Given the description of an element on the screen output the (x, y) to click on. 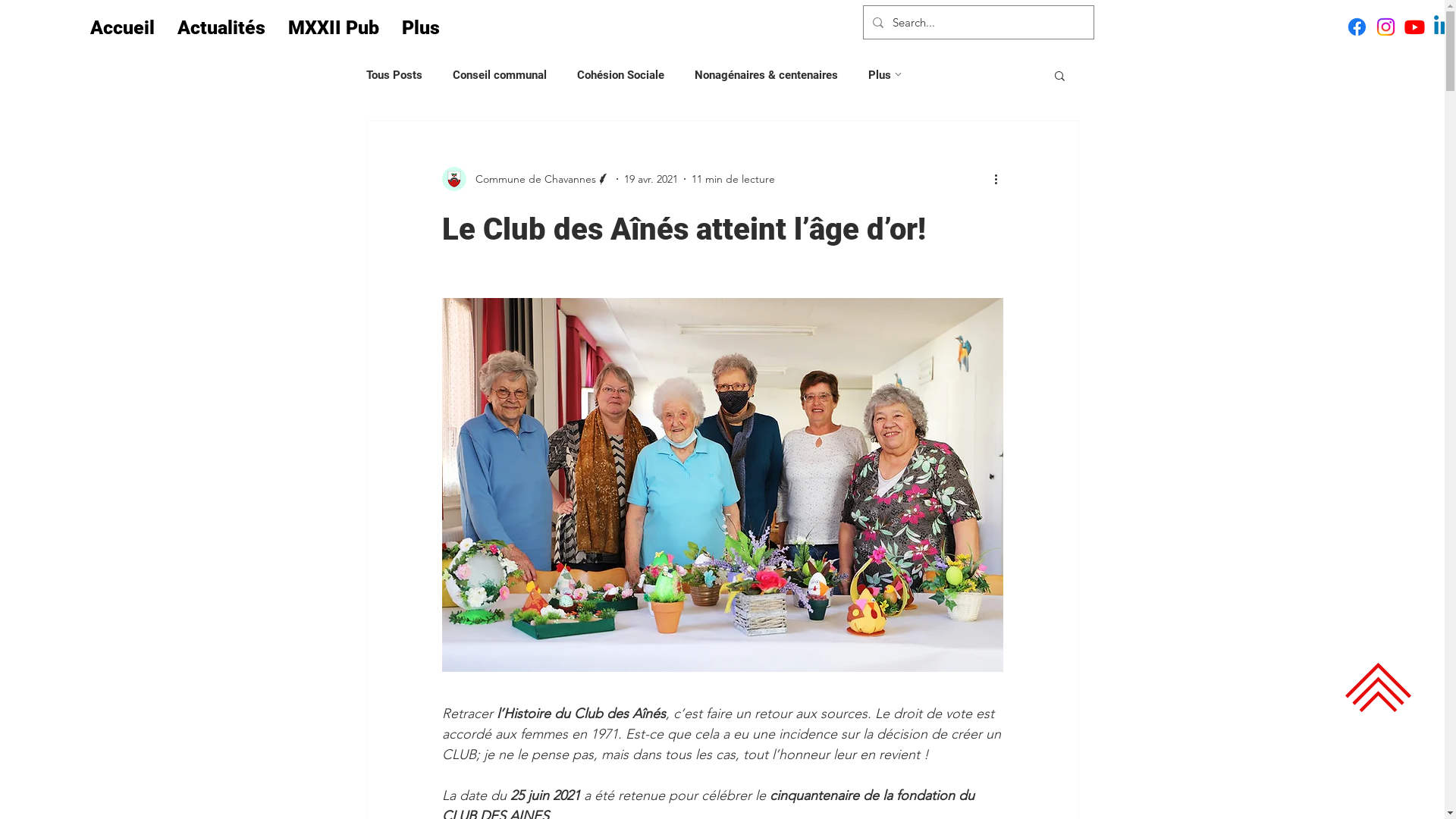
MXXII Pub Element type: text (333, 28)
Accueil Element type: text (122, 28)
Tous Posts Element type: text (393, 74)
Conseil communal Element type: text (498, 74)
Commune de Chavannes Element type: text (525, 178)
